Given the description of an element on the screen output the (x, y) to click on. 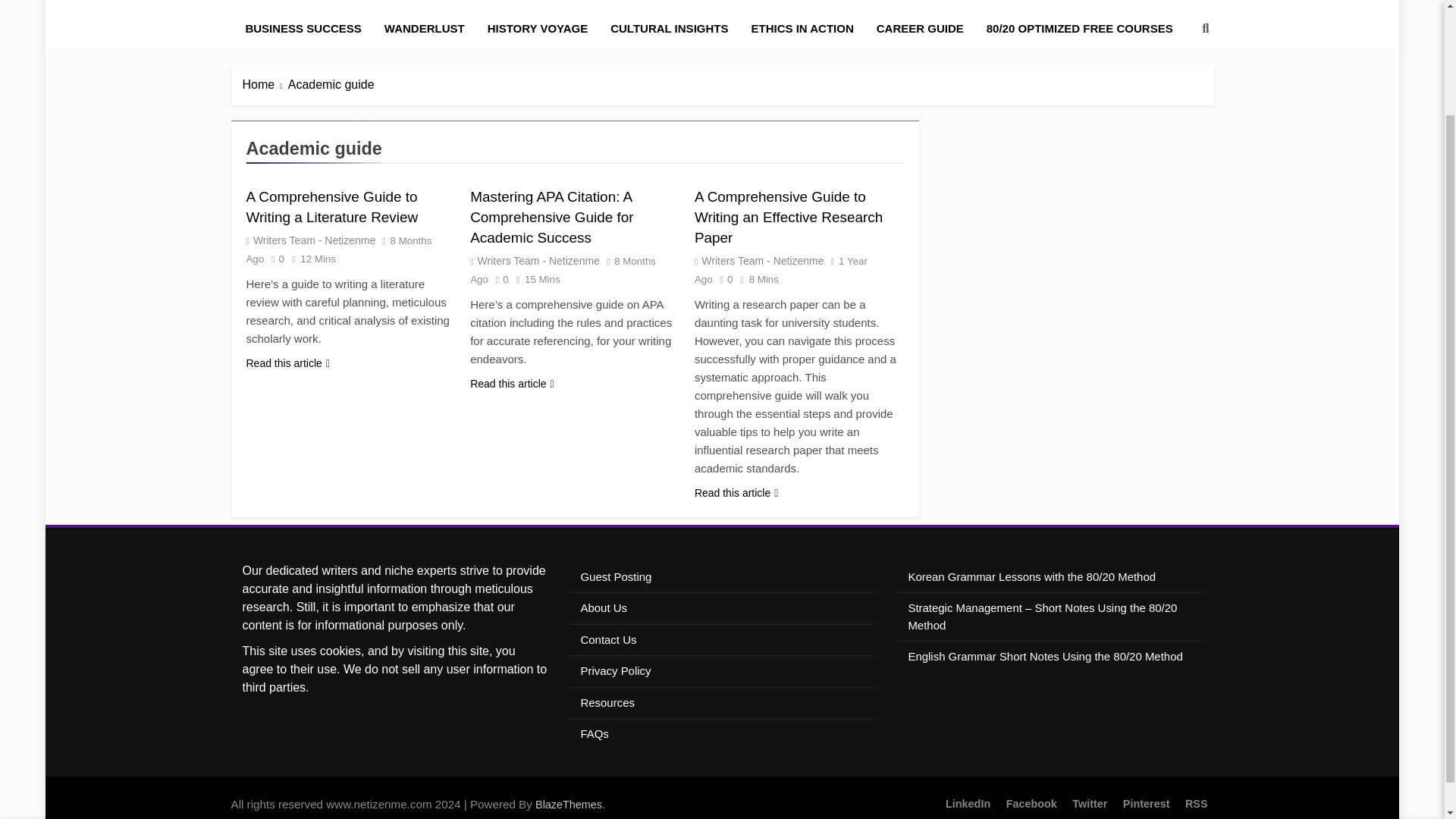
CAREER GUIDE (919, 28)
0 (723, 278)
8 Months Ago (563, 270)
A Comprehensive Guide to Writing an Effective Research Paper (788, 217)
Home (265, 85)
0 (273, 257)
Writers Team - Netizenme (537, 260)
WANDERLUST (424, 28)
A Comprehensive Guide to Writing a Literature Review (331, 207)
Read this article (736, 493)
HISTORY VOYAGE (537, 28)
BUSINESS SUCCESS (302, 28)
Read this article (512, 383)
